Given the description of an element on the screen output the (x, y) to click on. 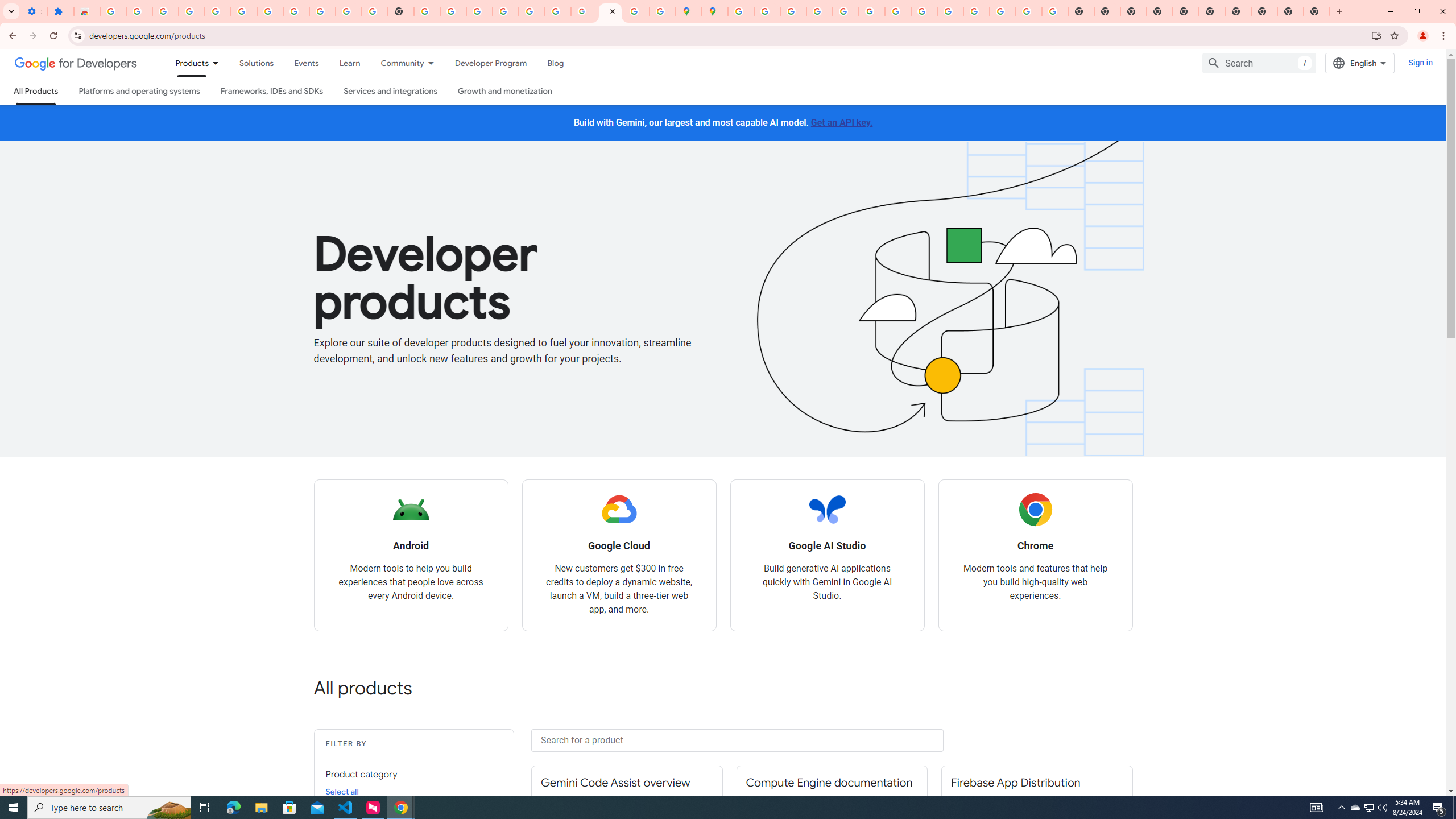
Dropdown menu for Products (219, 62)
English (1359, 63)
Select all (342, 790)
ChromeOS logo (1035, 509)
Google Images (1054, 11)
Safety in Our Products - Google Safety Center (663, 11)
Blog (556, 62)
Google AI Studio logo (826, 509)
